Given the description of an element on the screen output the (x, y) to click on. 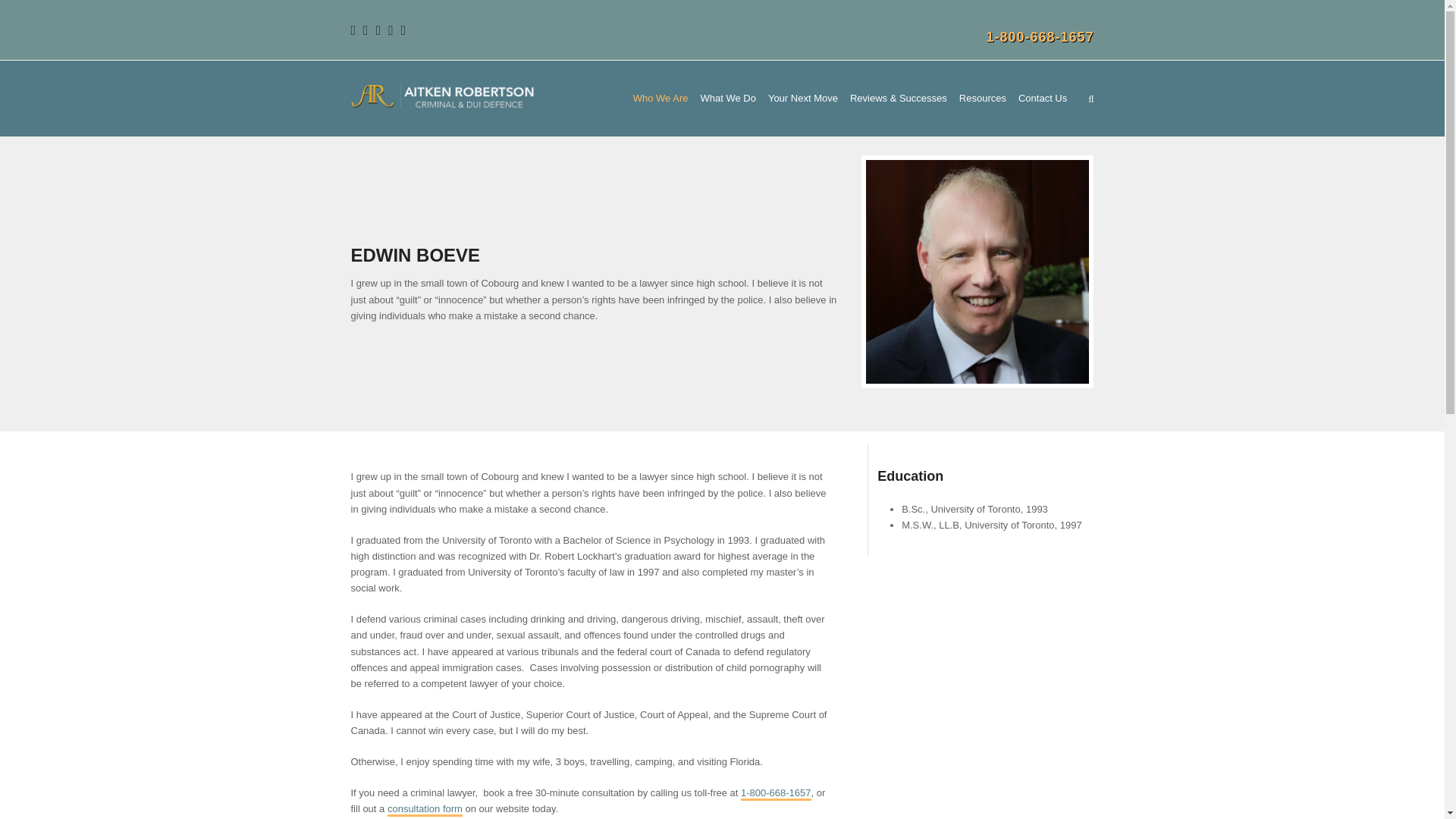
What to Do if You Have Been Charged (802, 98)
Who We Are (660, 98)
1-800-668-1657 (1039, 37)
Criminal Law (727, 98)
